Given the description of an element on the screen output the (x, y) to click on. 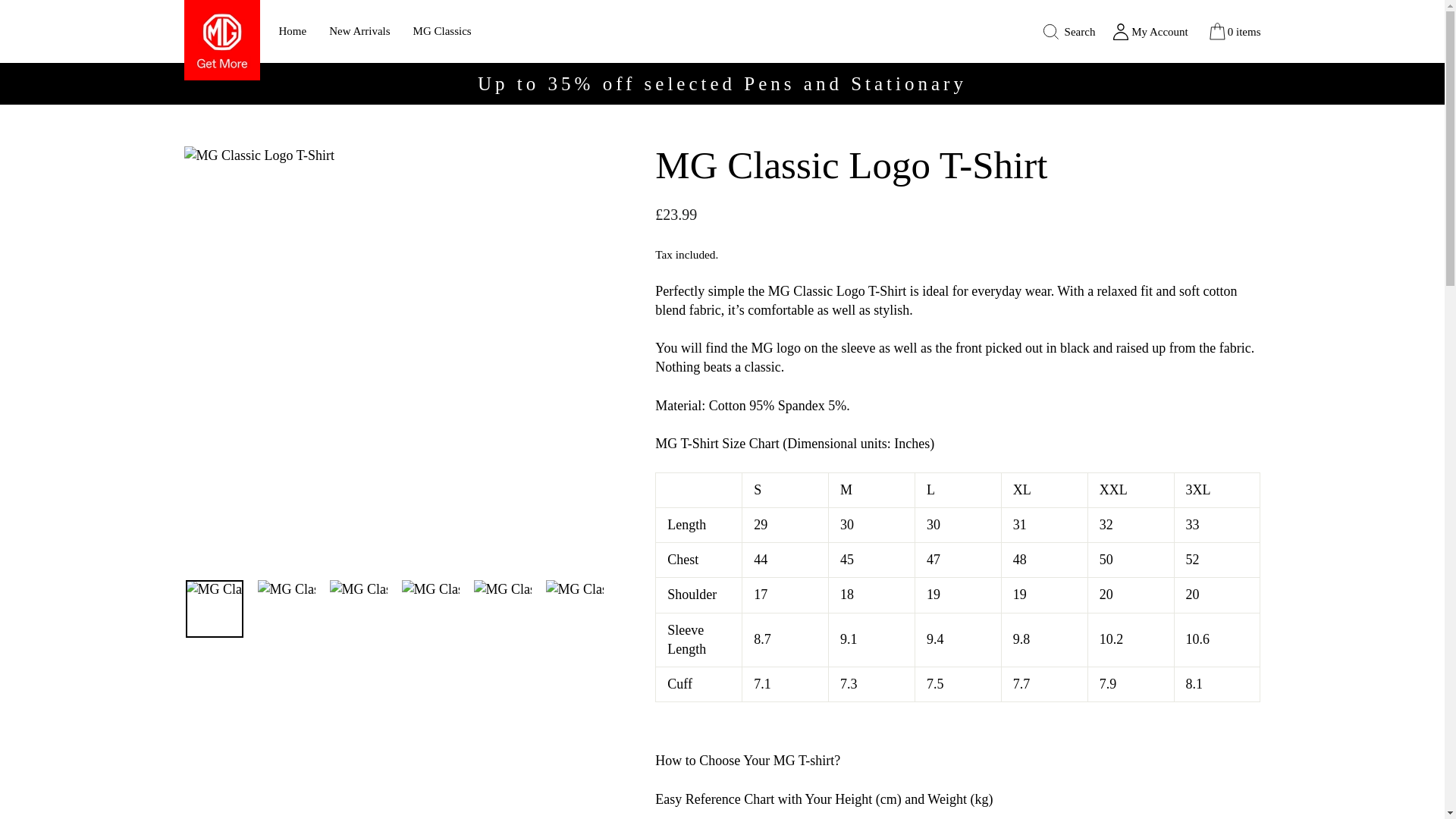
Search (1067, 31)
My Account (1149, 30)
Home (291, 31)
MG Classics (442, 31)
New Arrivals (359, 31)
0 items (1232, 31)
